Given the description of an element on the screen output the (x, y) to click on. 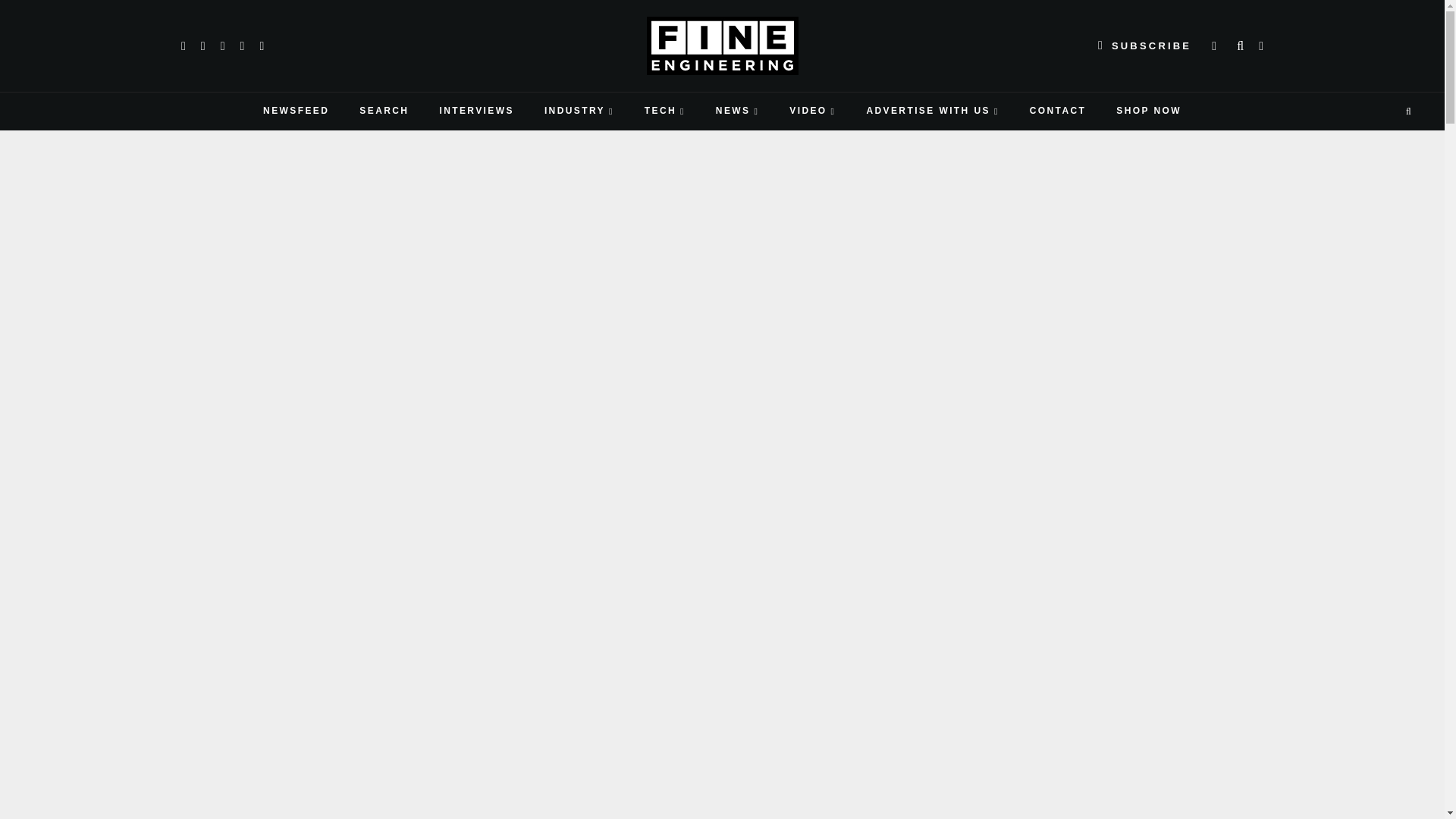
NEWSFEED (295, 111)
SEARCH (383, 111)
SUBSCRIBE (1144, 46)
INTERVIEWS (475, 111)
INDUSTRY (578, 111)
